Given the description of an element on the screen output the (x, y) to click on. 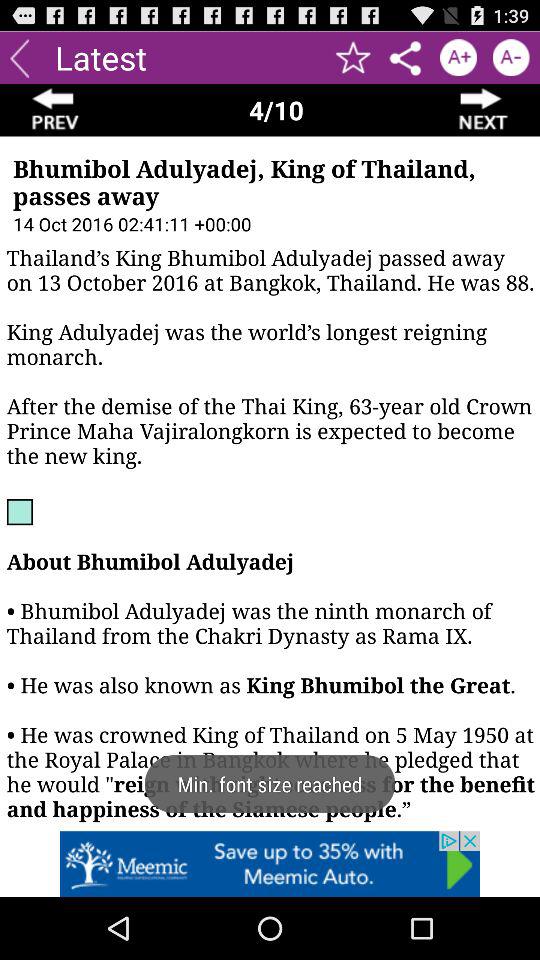
bigger font size (458, 57)
